Given the description of an element on the screen output the (x, y) to click on. 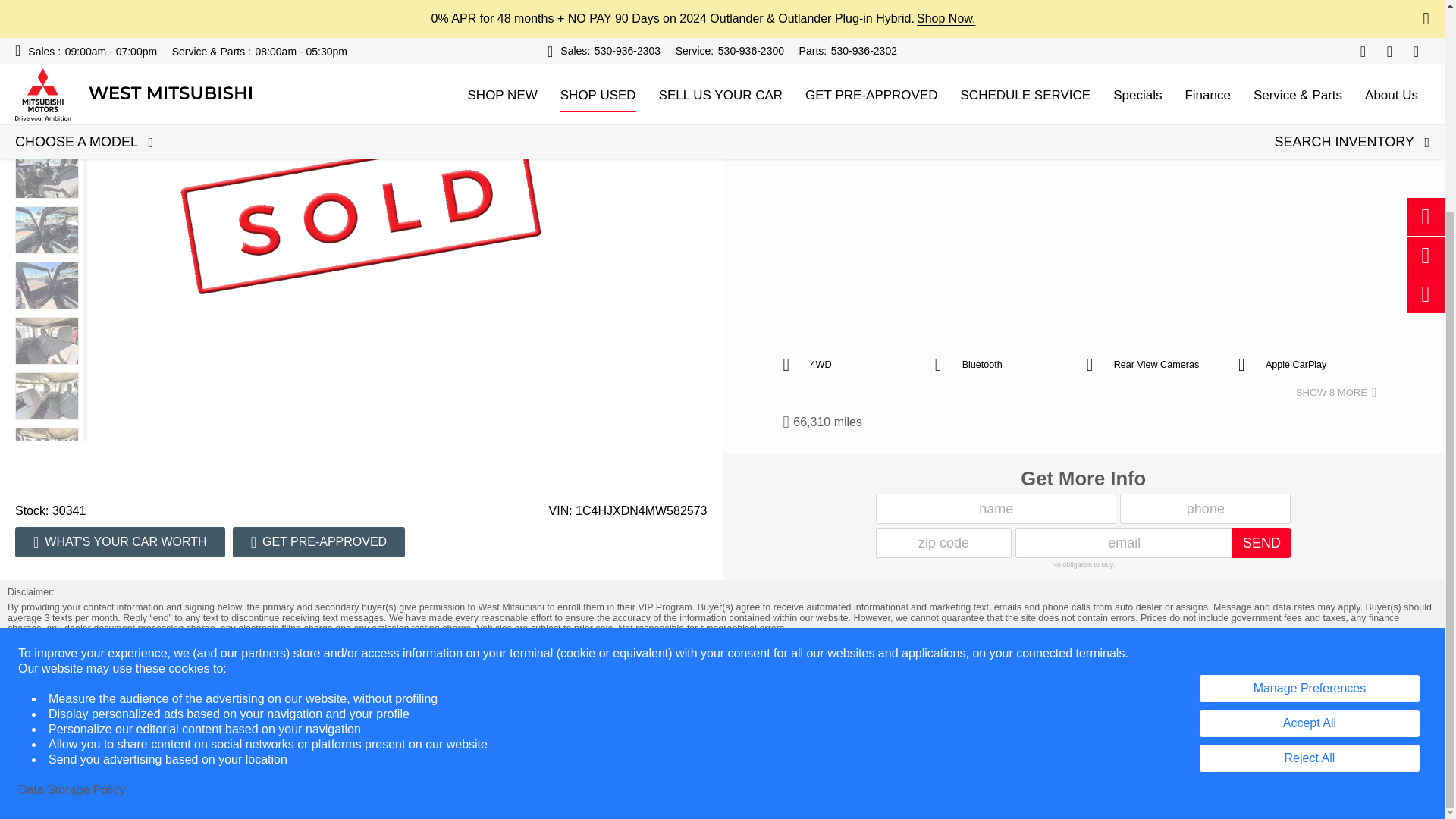
Data Storage Policy (71, 513)
Accept All (1309, 446)
Reject All (1309, 481)
Manage Preferences (1309, 411)
